Given the description of an element on the screen output the (x, y) to click on. 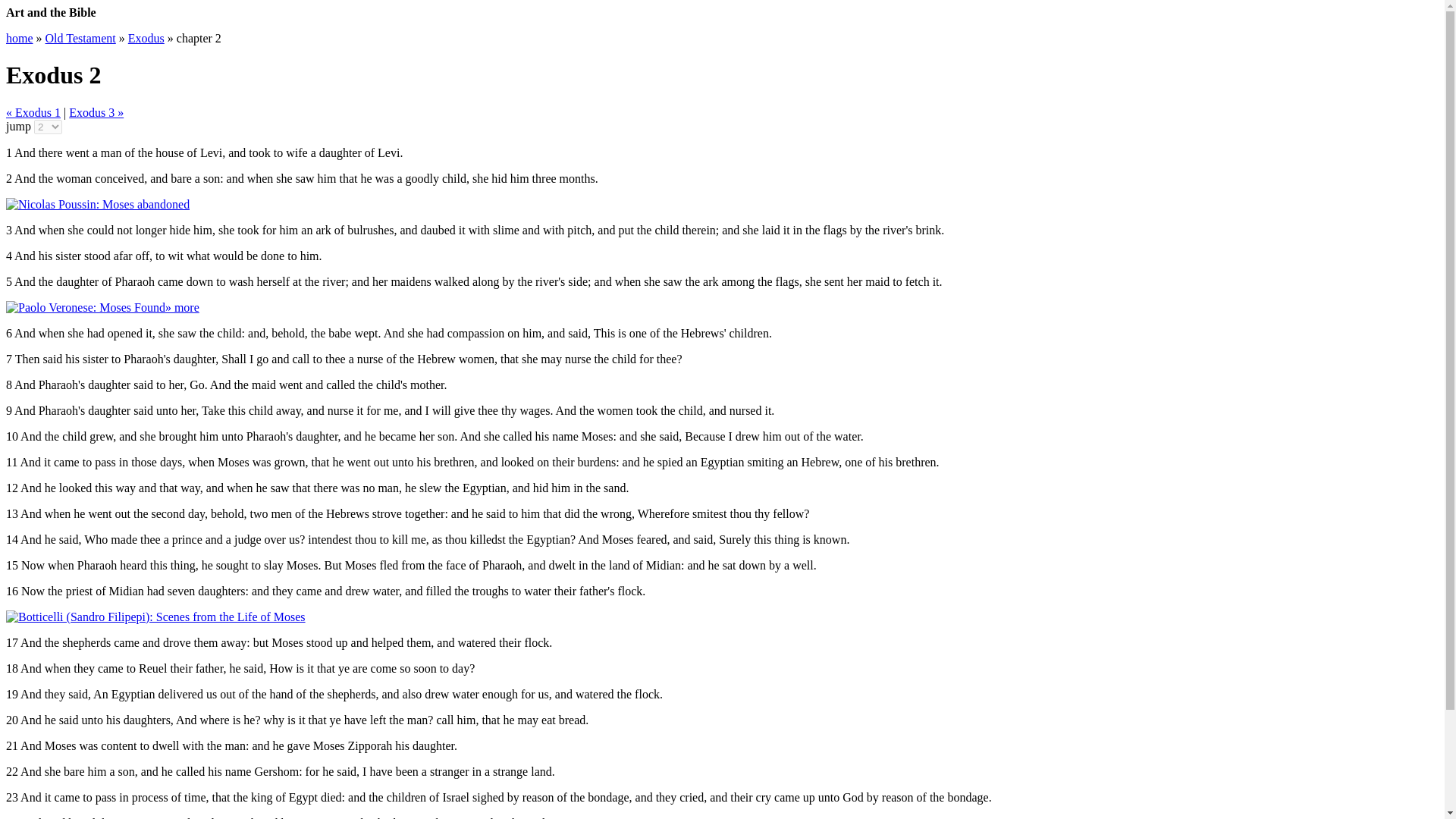
12 (11, 487)
click for large (97, 204)
17 (11, 642)
14 (11, 539)
21 (11, 745)
home (19, 38)
22 (11, 771)
23 (11, 797)
13 (11, 513)
18 (11, 667)
20 (11, 719)
click for large (85, 307)
10 (11, 436)
click for large (155, 616)
